Given the description of an element on the screen output the (x, y) to click on. 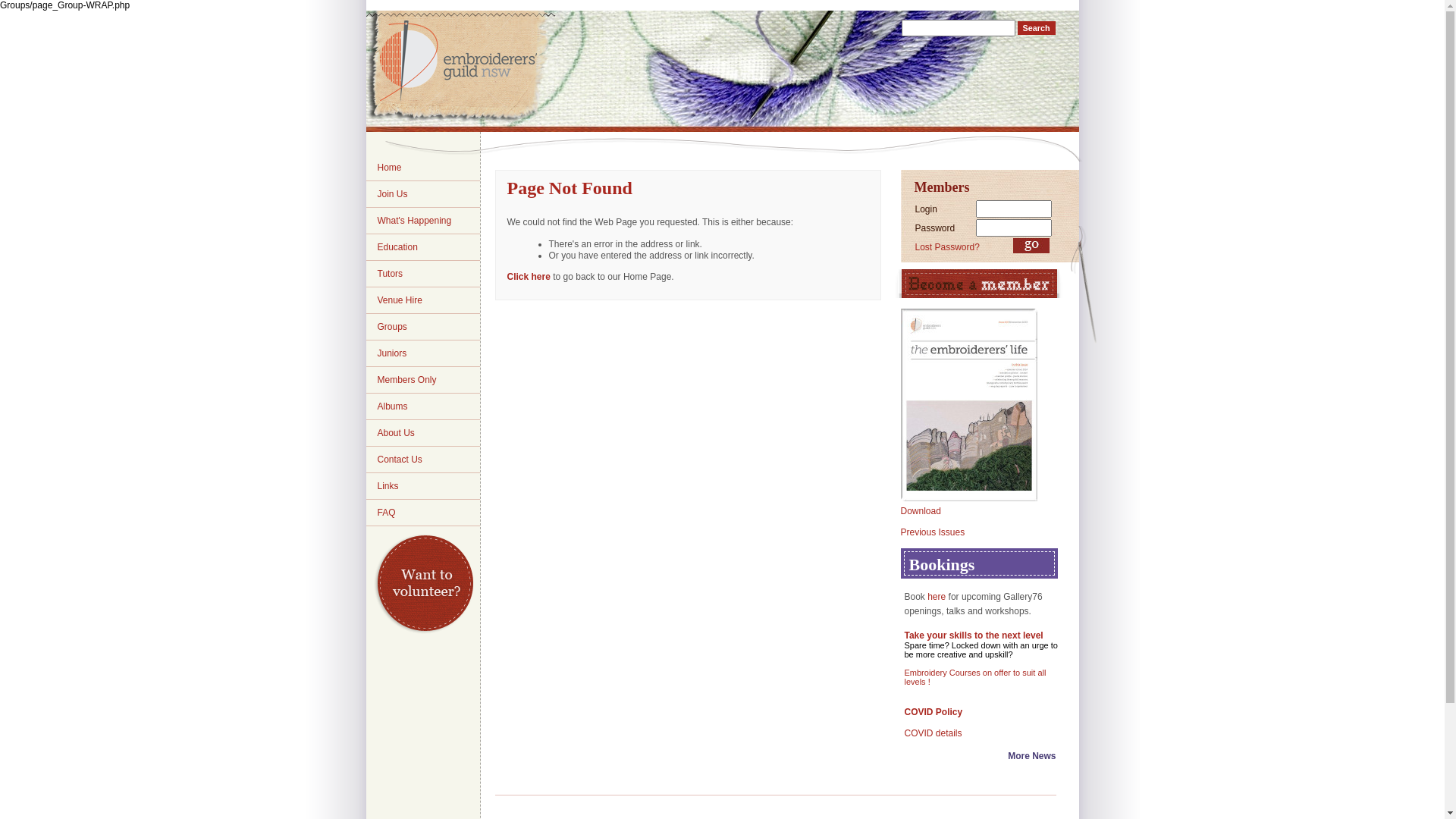
Juniors Element type: text (392, 353)
Groups Element type: text (392, 326)
About Us Element type: text (395, 432)
Links Element type: text (387, 485)
Members Only Element type: text (406, 379)
What's Happening Element type: text (414, 220)
COVID details Element type: text (932, 733)
Previous Issues Element type: text (989, 532)
Join Us Element type: text (392, 193)
FAQ Element type: text (386, 512)
Search Element type: text (1036, 27)
Click here Element type: text (527, 276)
Home Element type: text (389, 167)
here Element type: text (936, 596)
Lost Password? Element type: text (946, 247)
Venue Hire Element type: text (399, 299)
Albums Element type: text (392, 406)
More News Element type: text (1031, 755)
Contact Us Element type: text (399, 459)
Education Element type: text (397, 246)
Download Element type: text (989, 414)
Tutors Element type: text (390, 273)
Embroidery Courses on offer to suit all levels ! Element type: text (981, 677)
